Given the description of an element on the screen output the (x, y) to click on. 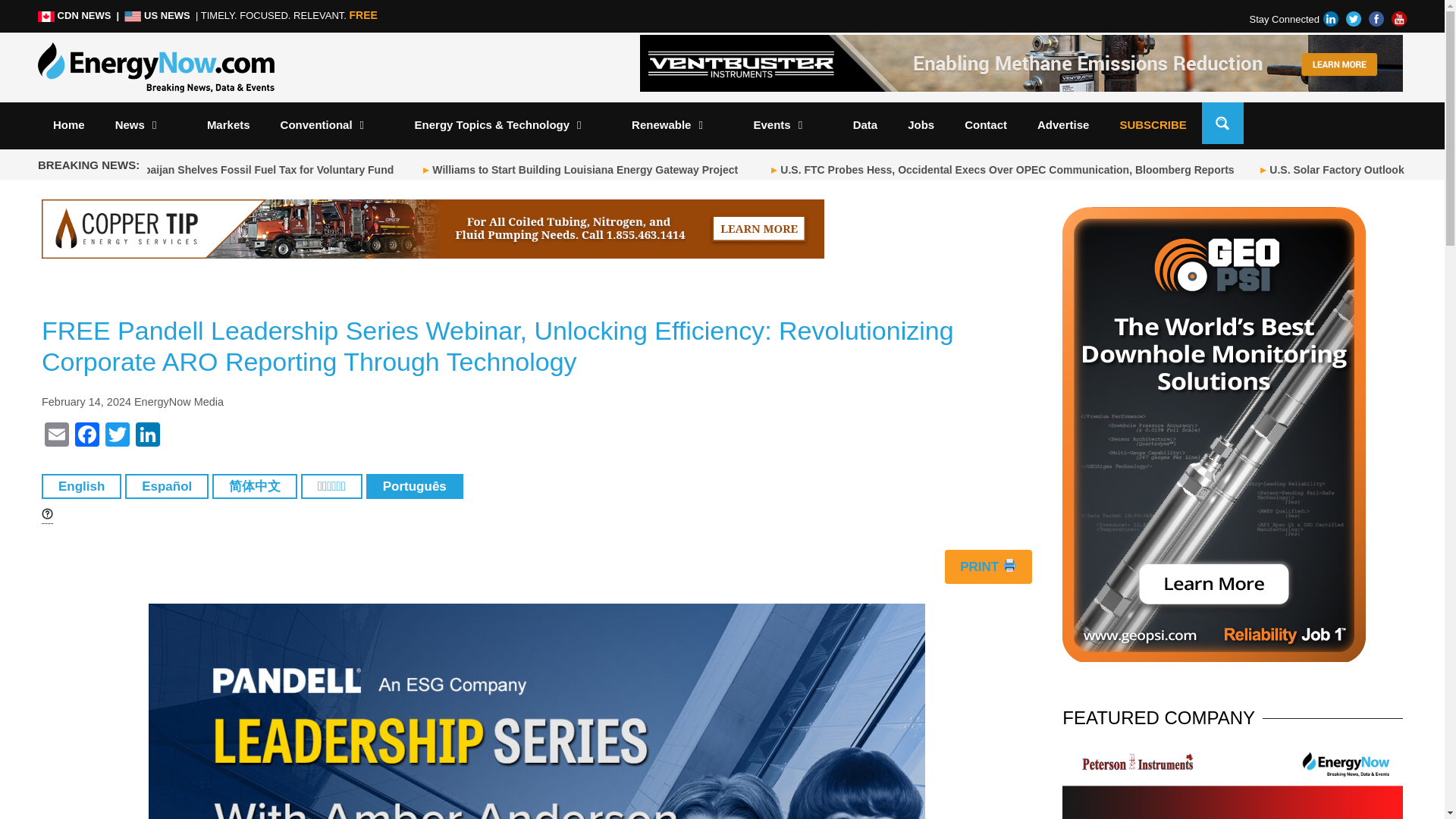
LinkedIn (147, 436)
News (146, 124)
Conventional (331, 124)
Twitter (116, 436)
US NEWS (157, 15)
Home (68, 124)
Email (56, 436)
Facebook (86, 436)
Markets (228, 124)
